Given the description of an element on the screen output the (x, y) to click on. 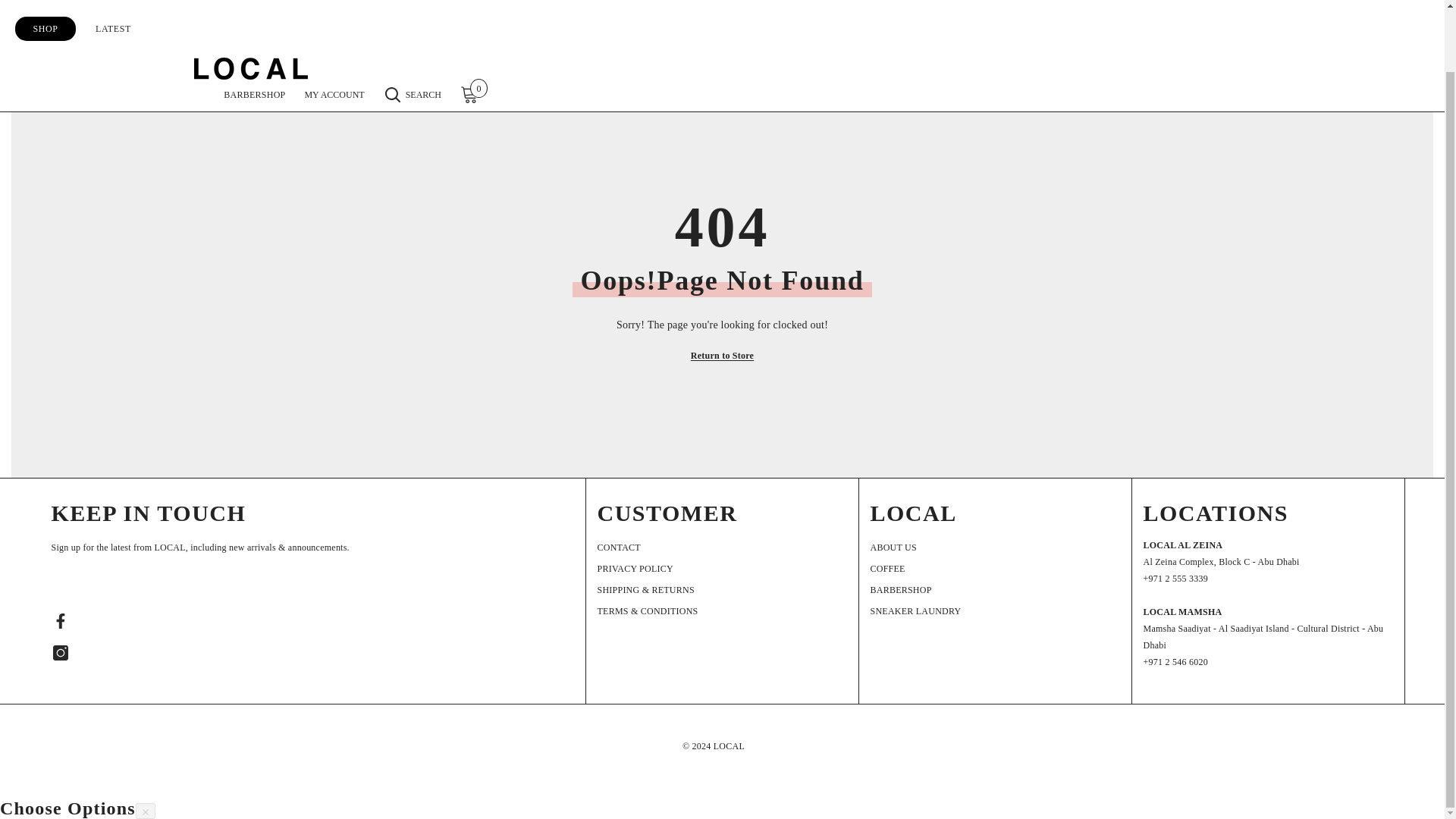
SHOP (45, 15)
